Given the description of an element on the screen output the (x, y) to click on. 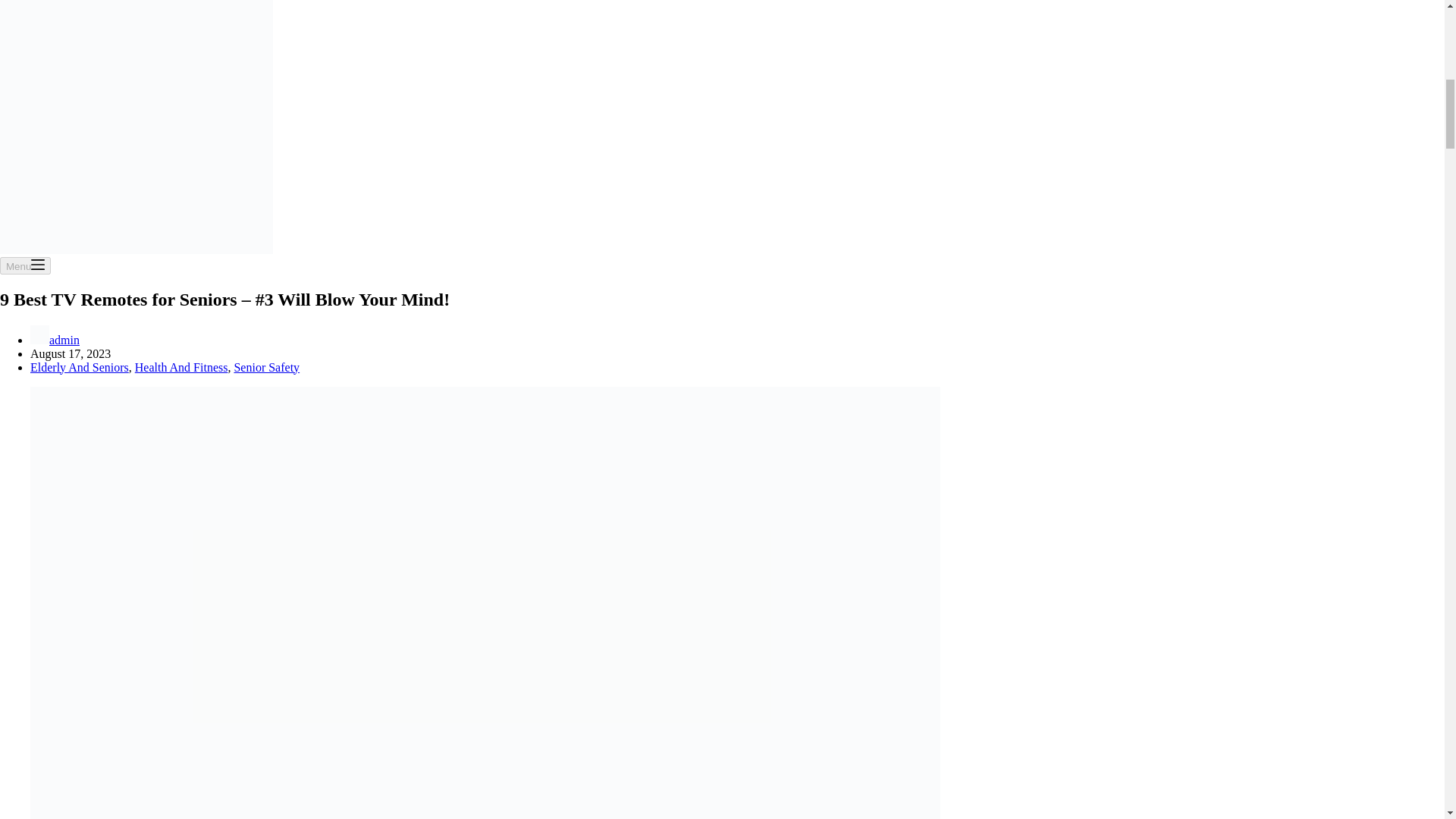
admin (64, 339)
Health And Fitness (181, 367)
Menu (25, 265)
Senior Safety (265, 367)
Elderly And Seniors (79, 367)
Posts by admin (64, 339)
